Given the description of an element on the screen output the (x, y) to click on. 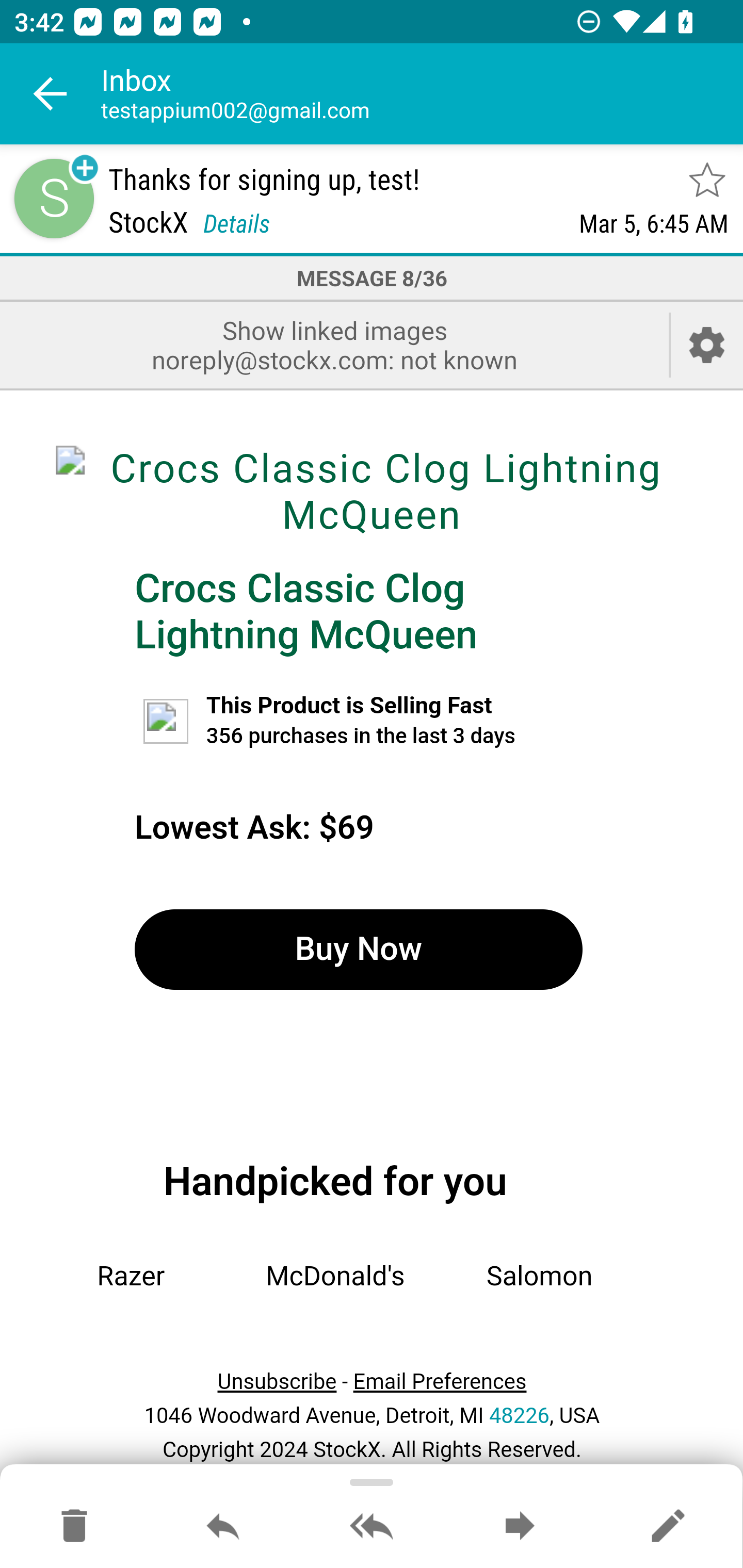
Navigate up (50, 93)
Inbox testappium002@gmail.com (422, 93)
Sender contact button (53, 198)
Show linked images
noreply@stockx.com: not known (334, 344)
Account setup (706, 344)
Crocs Classic Clog Lightning McQueen (371, 491)
Crocs Classic Clog Lightning McQueen (305, 611)
Buy Now (357, 949)
Handpicked for you (334, 1181)
Unsubscribe (276, 1381)
Email Preferences (439, 1381)
48226 (518, 1415)
Move to Deleted (74, 1527)
Reply (222, 1527)
Reply all (371, 1527)
Forward (519, 1527)
Reply as new (667, 1527)
